Given the description of an element on the screen output the (x, y) to click on. 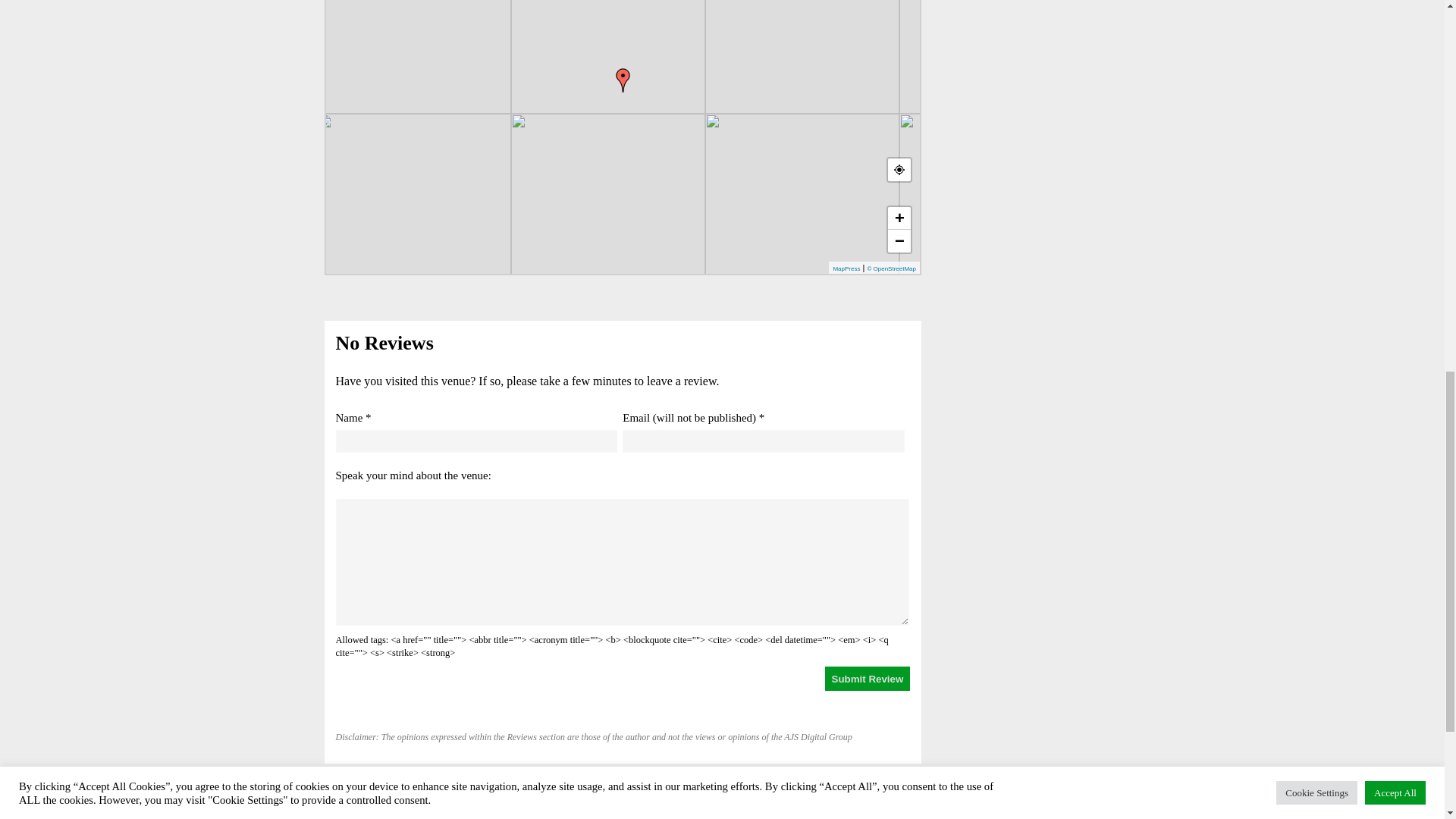
Submit Review (867, 678)
Advertisement (1027, 49)
Submit Review (867, 678)
MapPress (846, 268)
Your Location (899, 169)
